Given the description of an element on the screen output the (x, y) to click on. 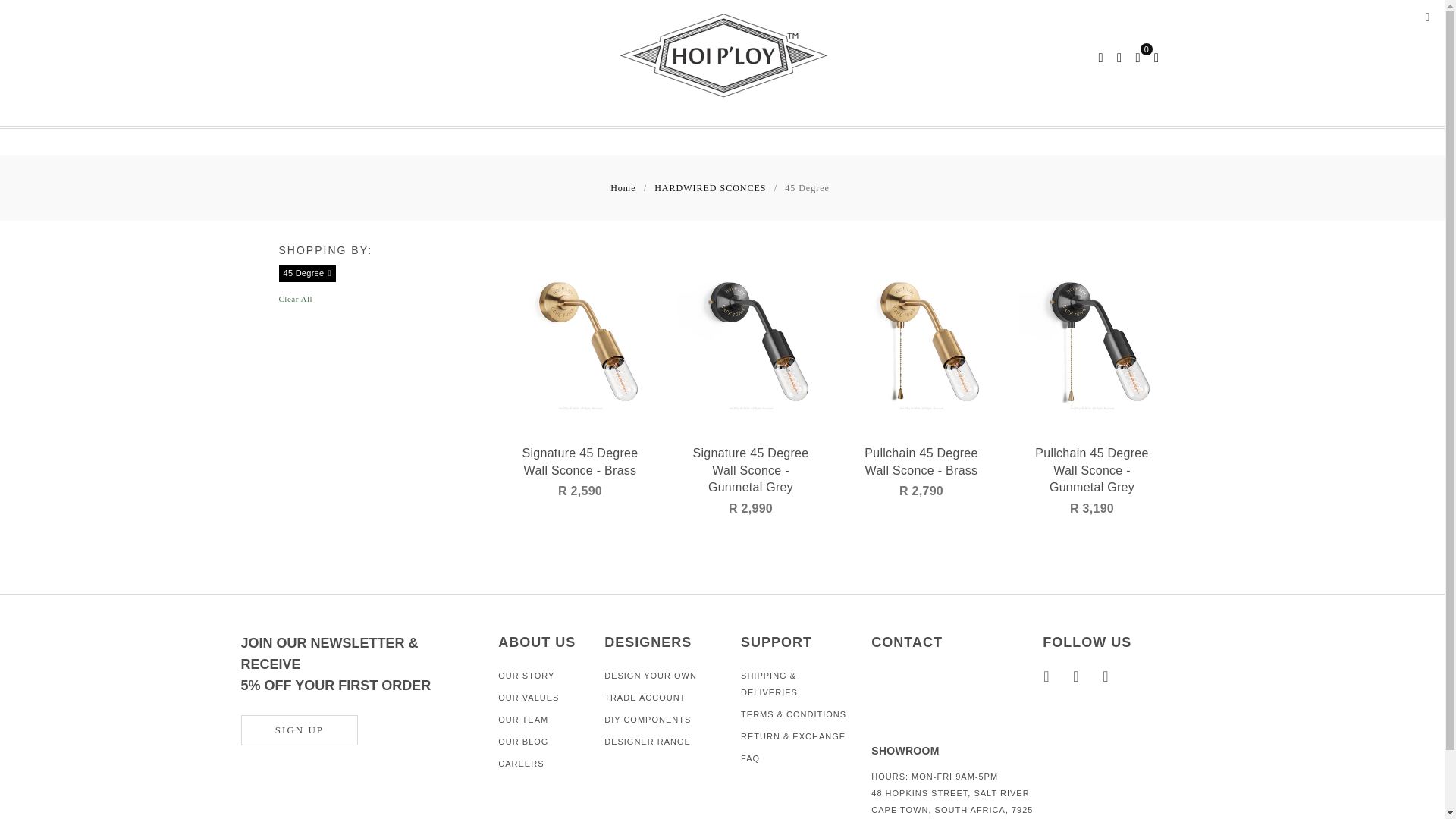
Settings (1119, 56)
Back to the home page (623, 187)
0 (1137, 56)
Wishlist (1156, 56)
Search (1101, 56)
LIGHTING (464, 119)
RANGES (555, 119)
Cart (1137, 56)
